Given the description of an element on the screen output the (x, y) to click on. 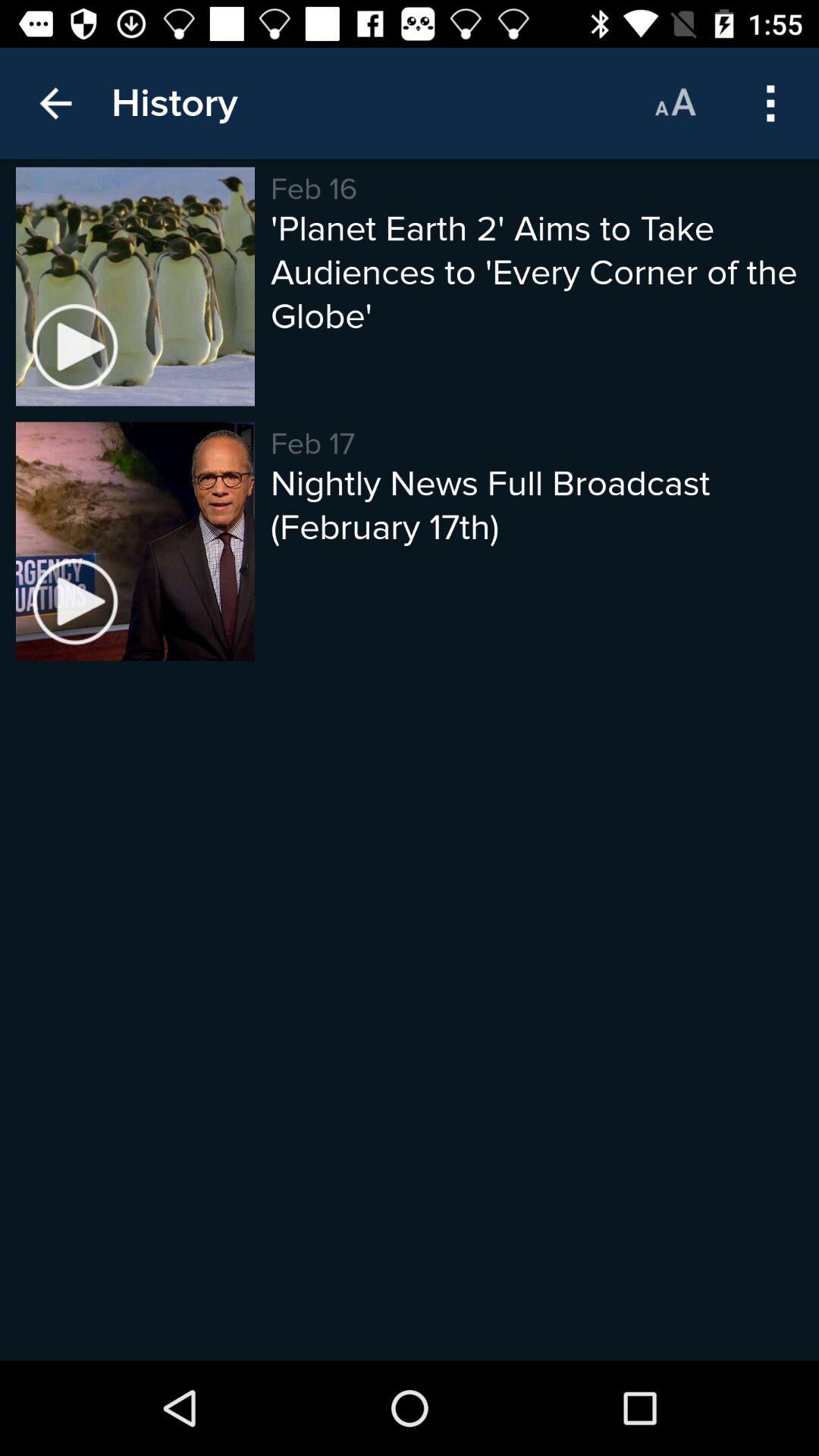
turn on item above planet earth 2 (674, 103)
